Given the description of an element on the screen output the (x, y) to click on. 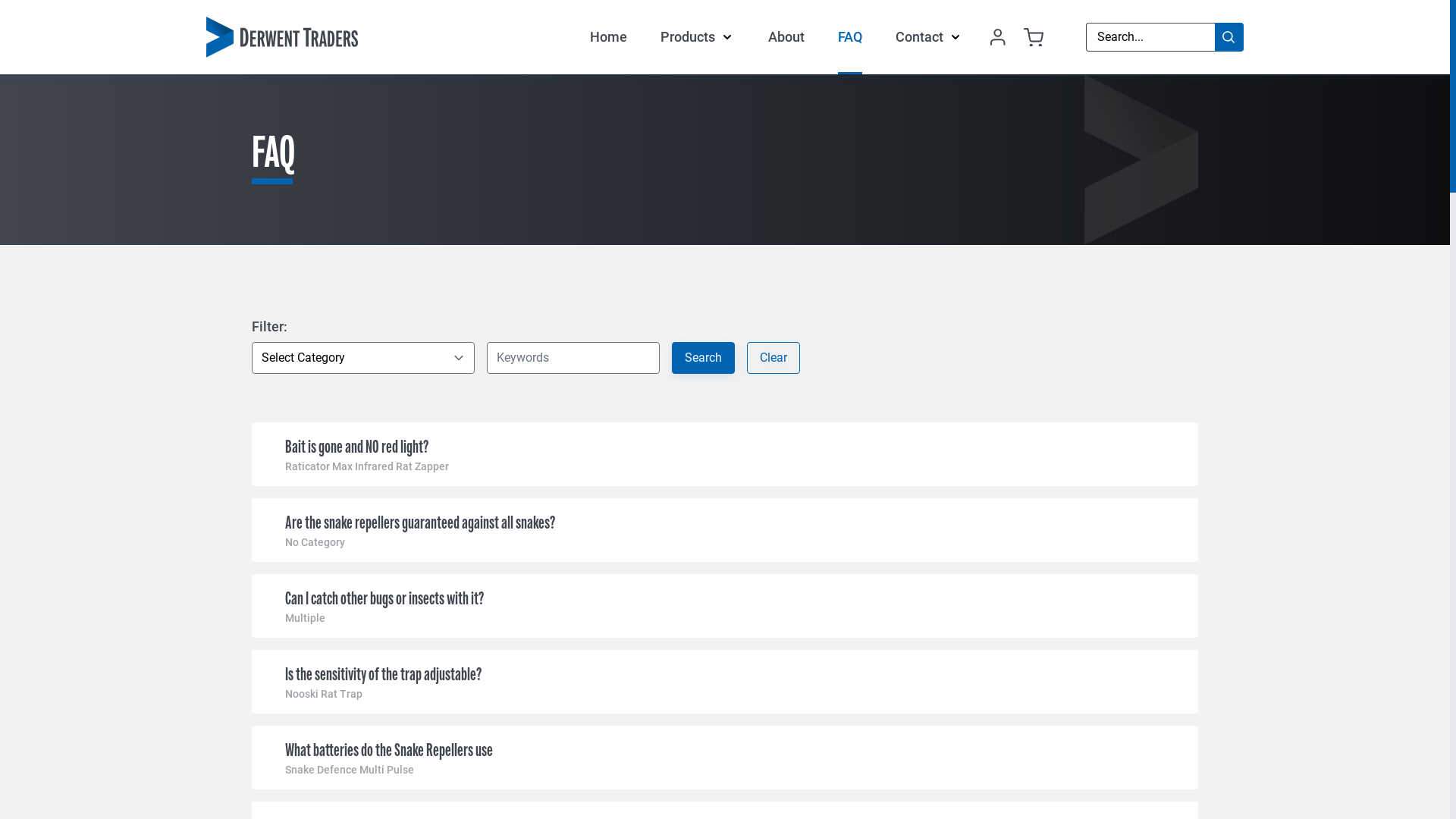
Clear Element type: text (773, 357)
Products Element type: text (687, 36)
View your shopping cart Element type: hover (1033, 37)
Search Element type: text (702, 357)
Can I catch other bugs or insects with it? Element type: text (384, 598)
FAQ Element type: text (849, 36)
Bait is gone and NO red light? Element type: text (356, 446)
Are the snake repellers guaranteed against all snakes? Element type: text (420, 522)
About Element type: text (786, 36)
What batteries do the Snake Repellers use Element type: text (388, 749)
Home Element type: text (608, 36)
Contact Element type: text (919, 36)
Is the sensitivity of the trap adjustable? Element type: text (383, 674)
